Given the description of an element on the screen output the (x, y) to click on. 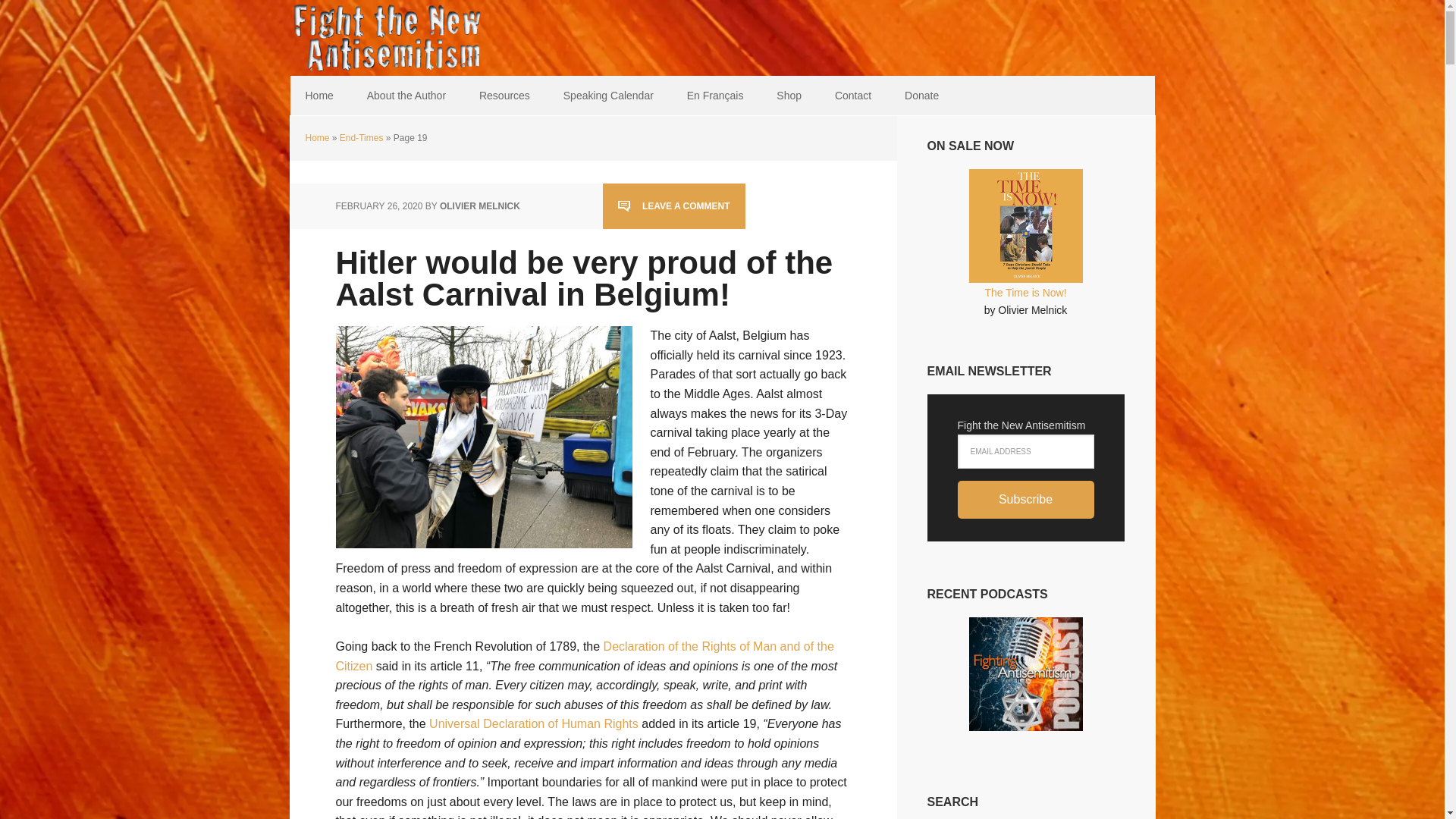
OLIVIER MELNICK (479, 205)
Donate (921, 96)
End-Times (361, 137)
Hitler would be very proud of the Aalst Carnival in Belgium! (583, 278)
Resources (504, 96)
Shop (788, 96)
Speaking Calendar (608, 96)
Home (316, 137)
Declaration of the Rights of Man and of the Citizen (583, 655)
Subscribe (1024, 499)
Contact (852, 96)
The New Antisemitism (387, 38)
Universal Declaration of Human Rights (534, 723)
LEAVE A COMMENT (673, 205)
Home (318, 96)
